Given the description of an element on the screen output the (x, y) to click on. 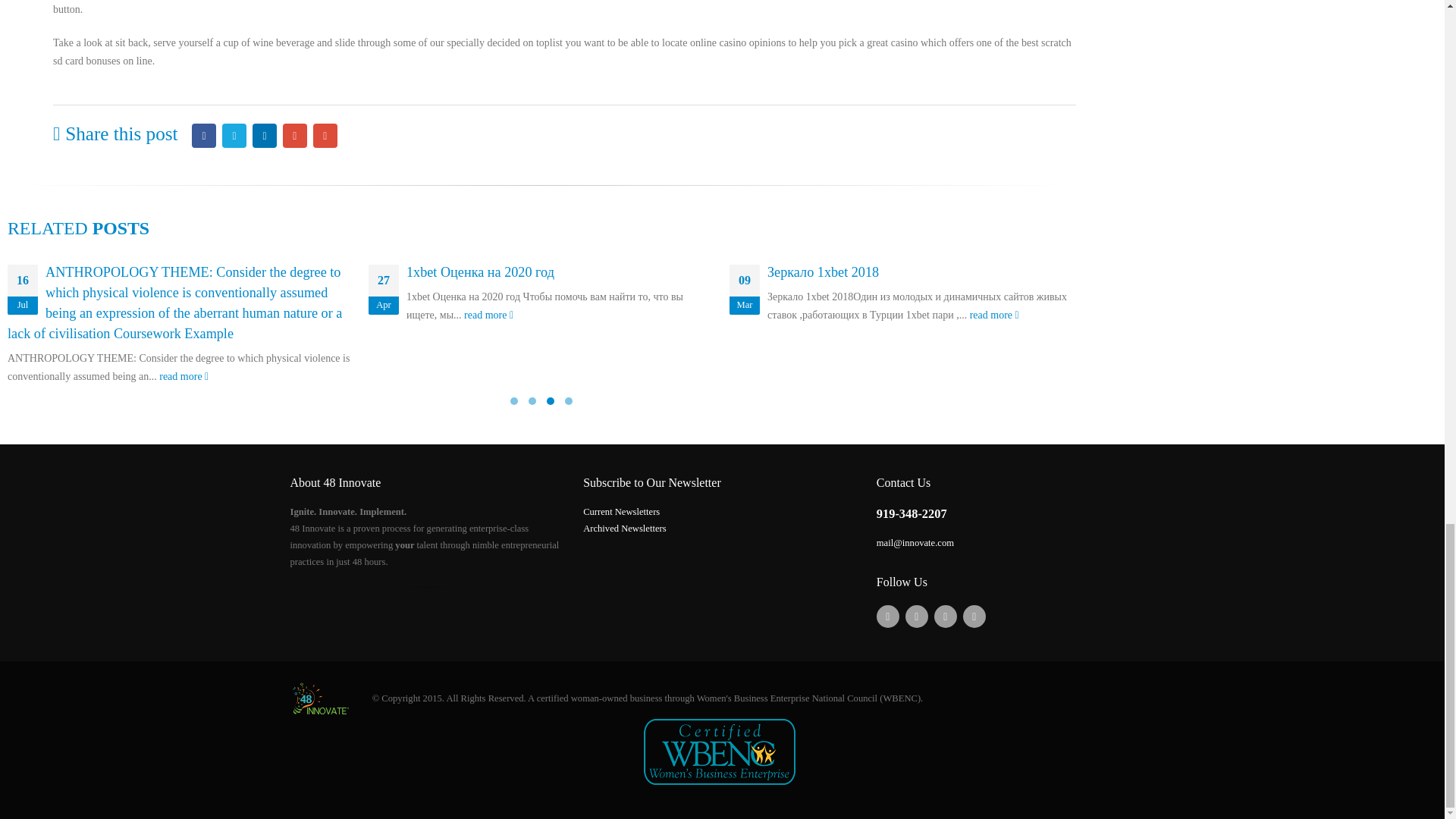
read more (183, 376)
Facebook (203, 135)
LinkedIn (263, 135)
read more (488, 315)
48 Innovate - Ignite Employee-driven Innovation (319, 697)
Email (325, 135)
Twitter (234, 135)
read more (994, 315)
